Given the description of an element on the screen output the (x, y) to click on. 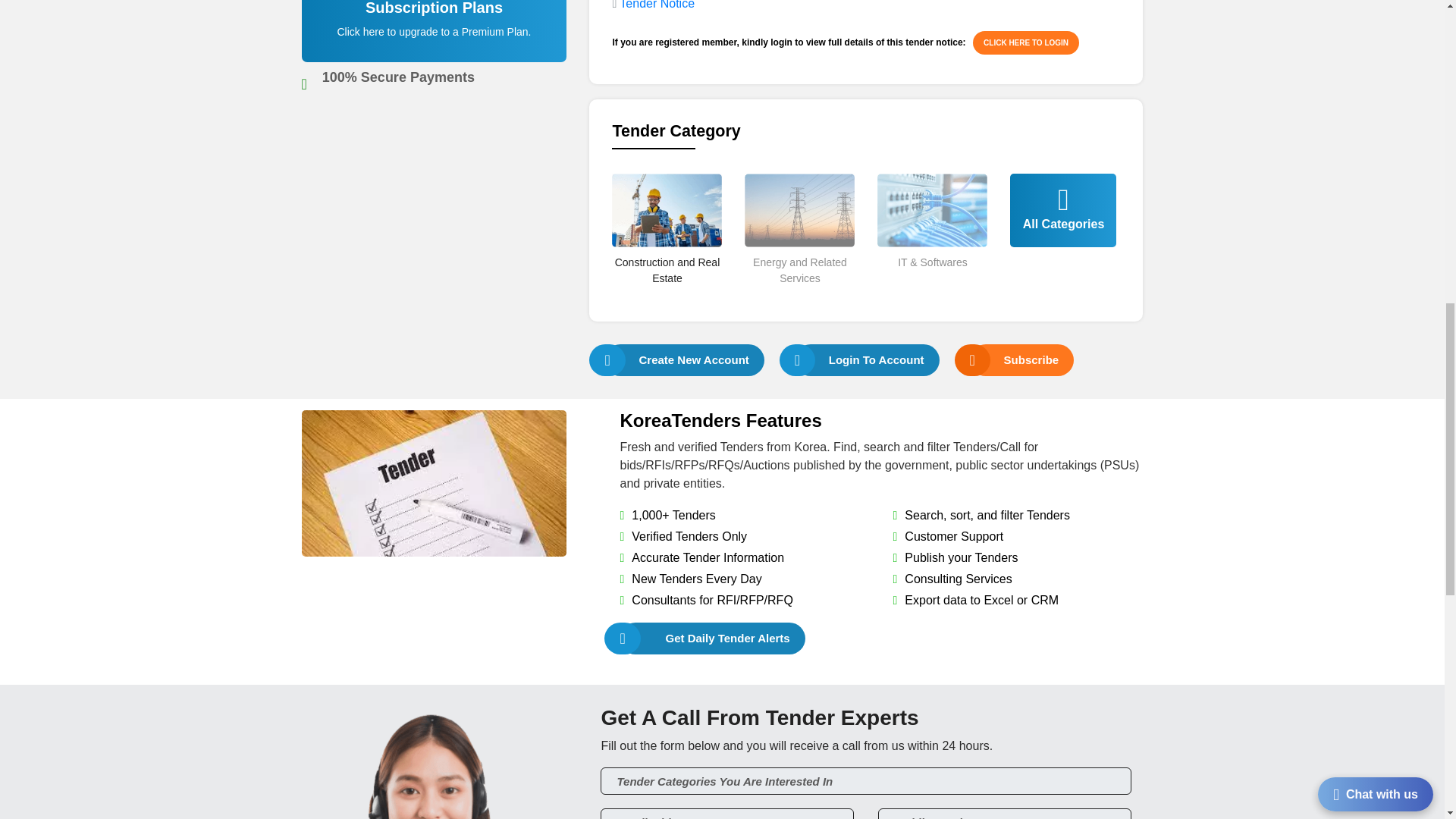
All Categories (1062, 232)
Login To Account (866, 359)
Click here to upgrade to a Premium Plan. (433, 31)
Create New Account (684, 359)
CLICK HERE TO LOGIN (1025, 42)
Subscription Plans (434, 39)
Construction and Real Estate (666, 296)
Energy and Related Services (799, 296)
Subscribe (1022, 359)
Tender Notice (657, 4)
Get Daily Tender Alerts (712, 638)
